Given the description of an element on the screen output the (x, y) to click on. 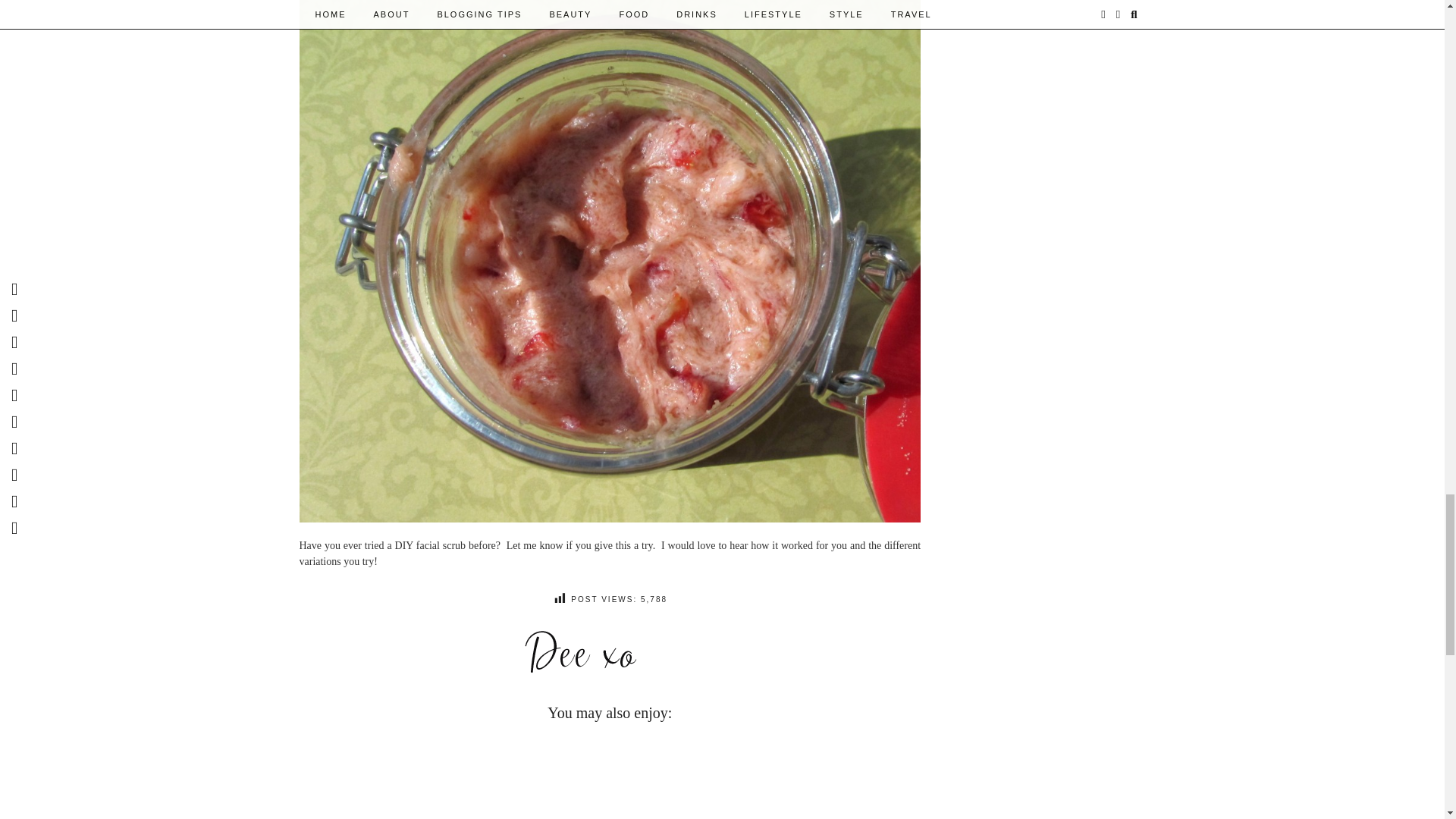
Exploring Full-Body Wellness at Supernatural Hamilton (376, 774)
